Given the description of an element on the screen output the (x, y) to click on. 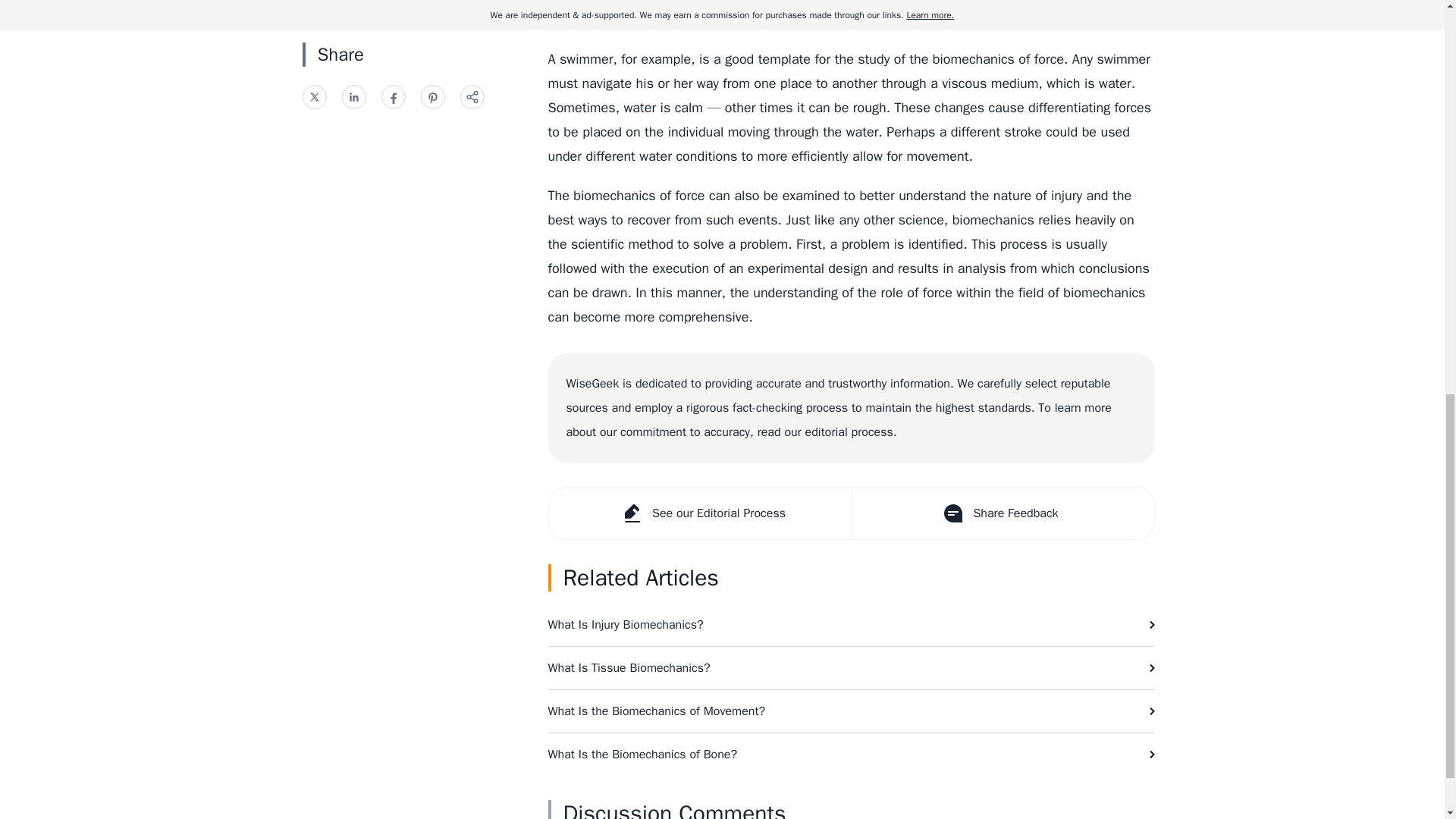
What Is the Biomechanics of Movement? (850, 711)
What Is Tissue Biomechanics? (850, 668)
Share Feedback (1001, 512)
See our Editorial Process (699, 512)
What Is the Biomechanics of Bone? (850, 754)
What Is Injury Biomechanics? (850, 624)
